Given the description of an element on the screen output the (x, y) to click on. 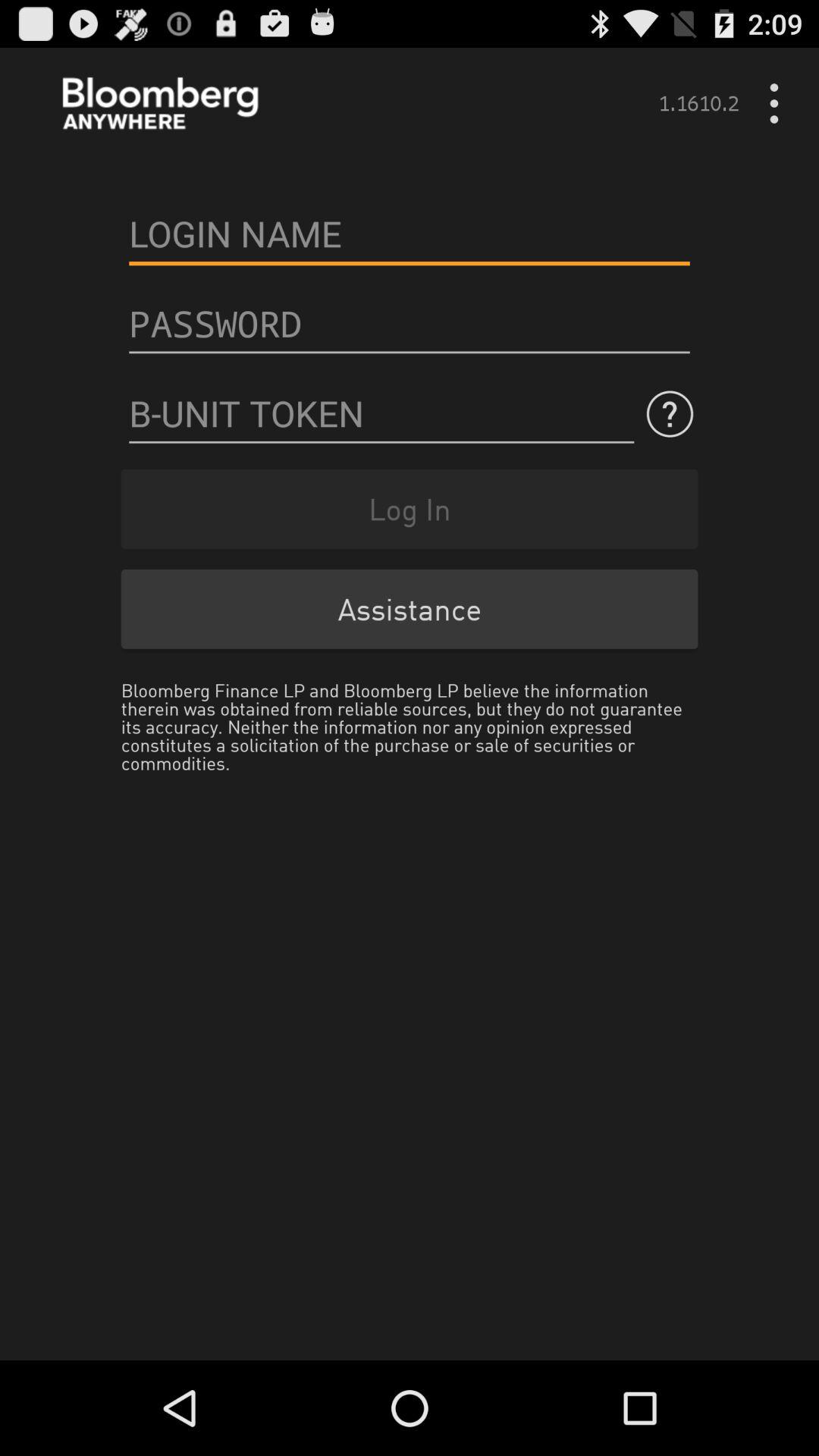
questions (381, 413)
